Given the description of an element on the screen output the (x, y) to click on. 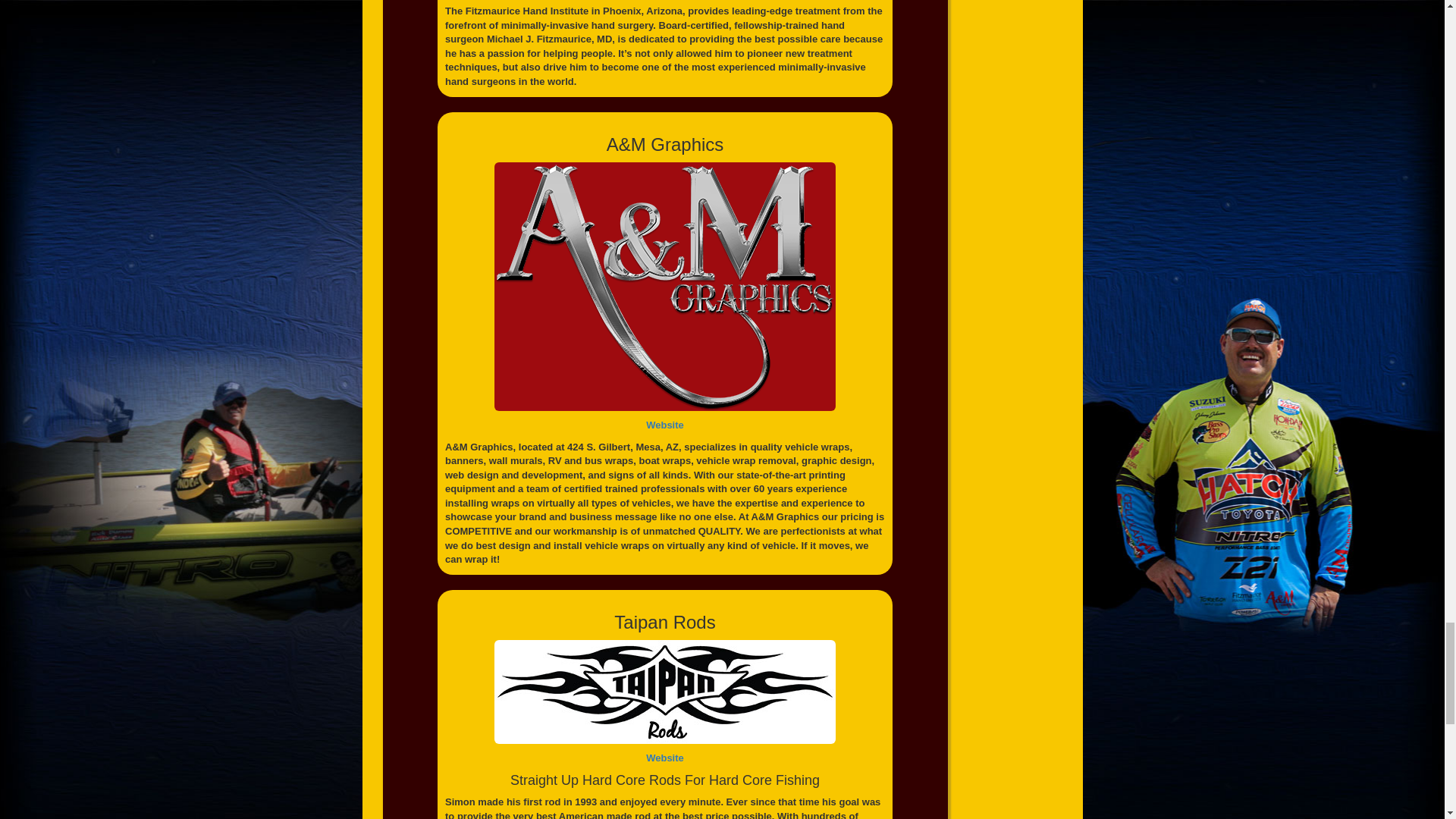
Website (665, 424)
Website (665, 757)
